Given the description of an element on the screen output the (x, y) to click on. 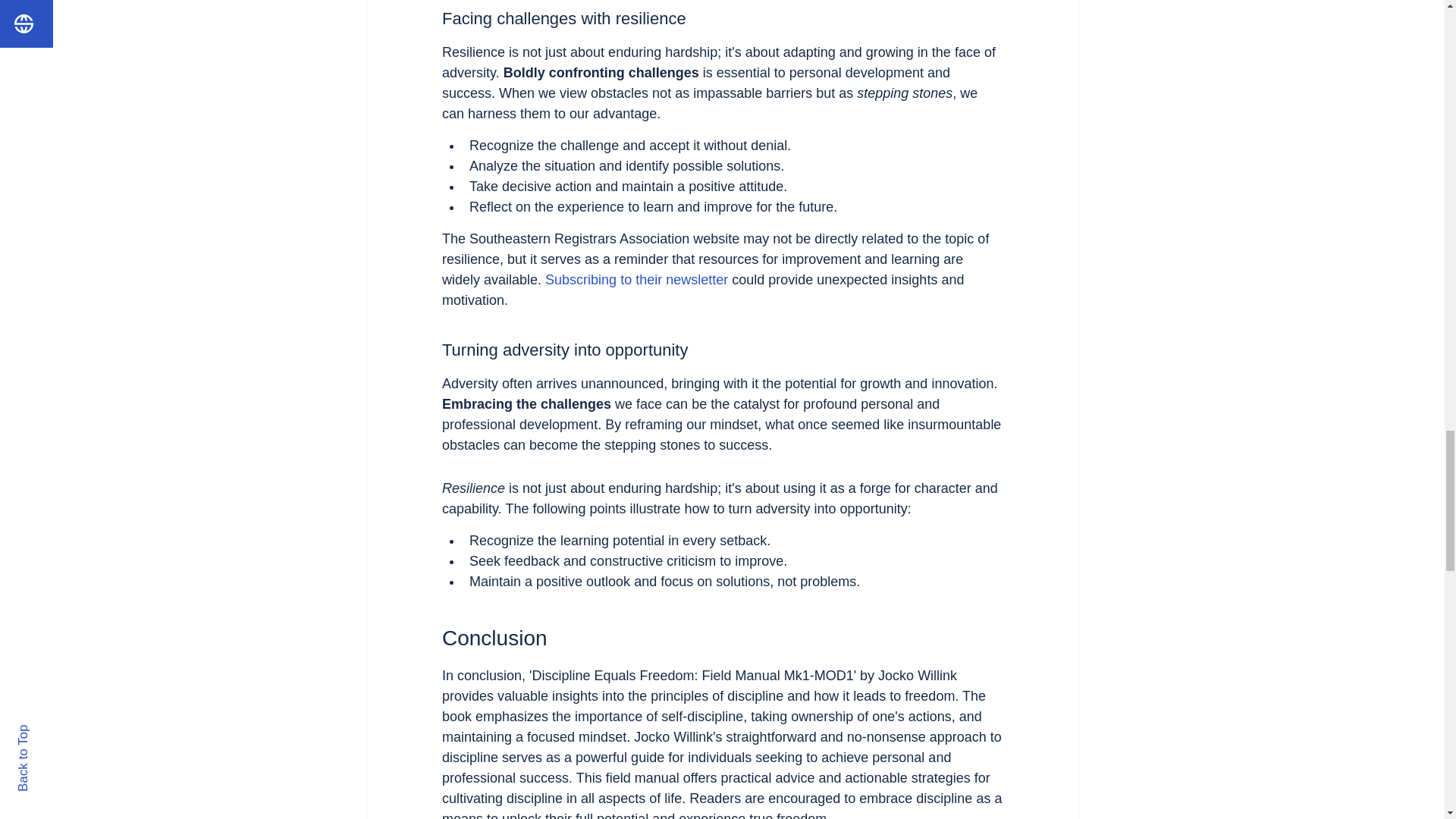
Subscribing to their newsletter (636, 279)
